Given the description of an element on the screen output the (x, y) to click on. 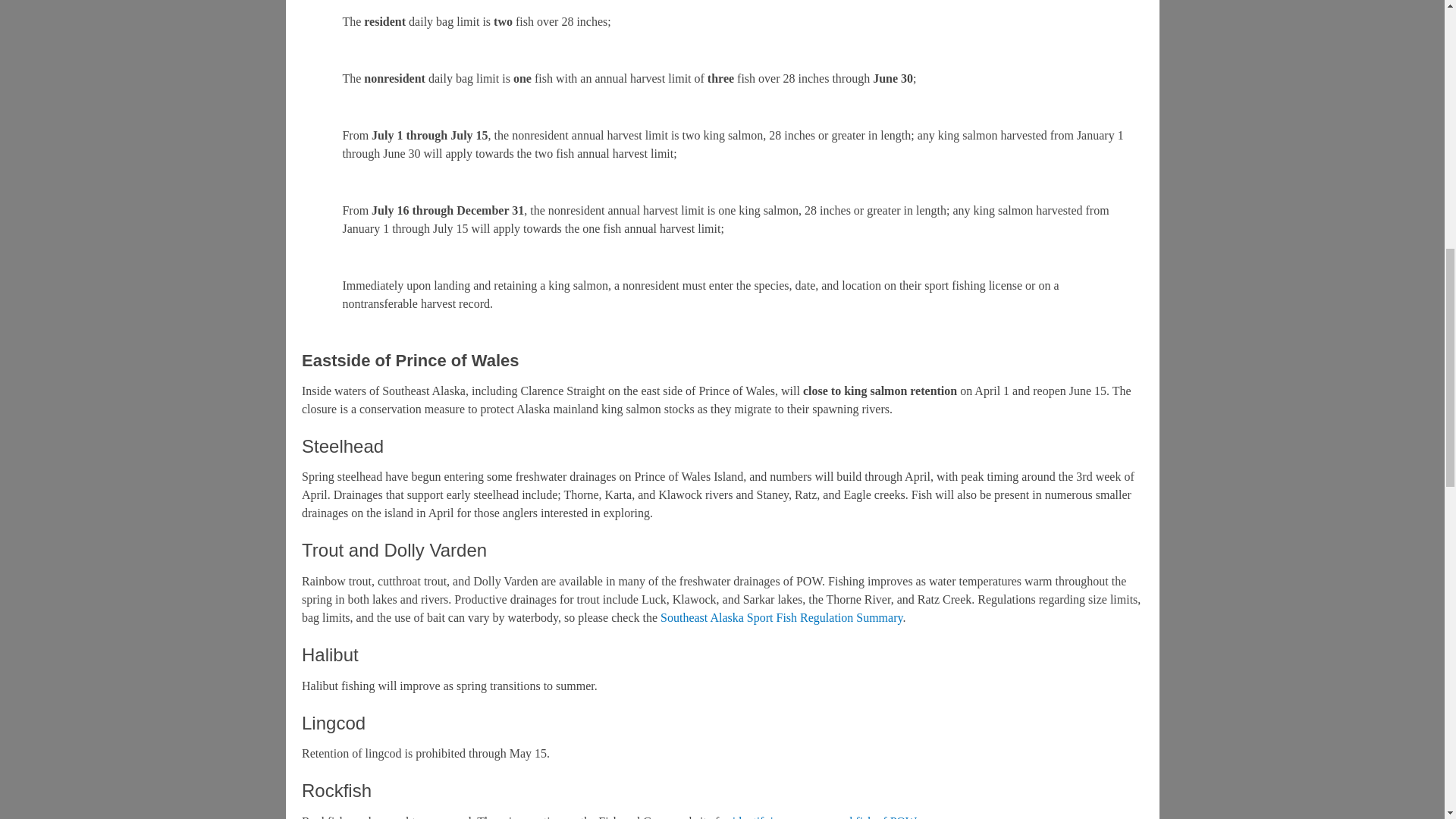
Southeast Alaska Sport Fish Regulation Summary (781, 617)
identifying common rockfish of POW (823, 816)
